Given the description of an element on the screen output the (x, y) to click on. 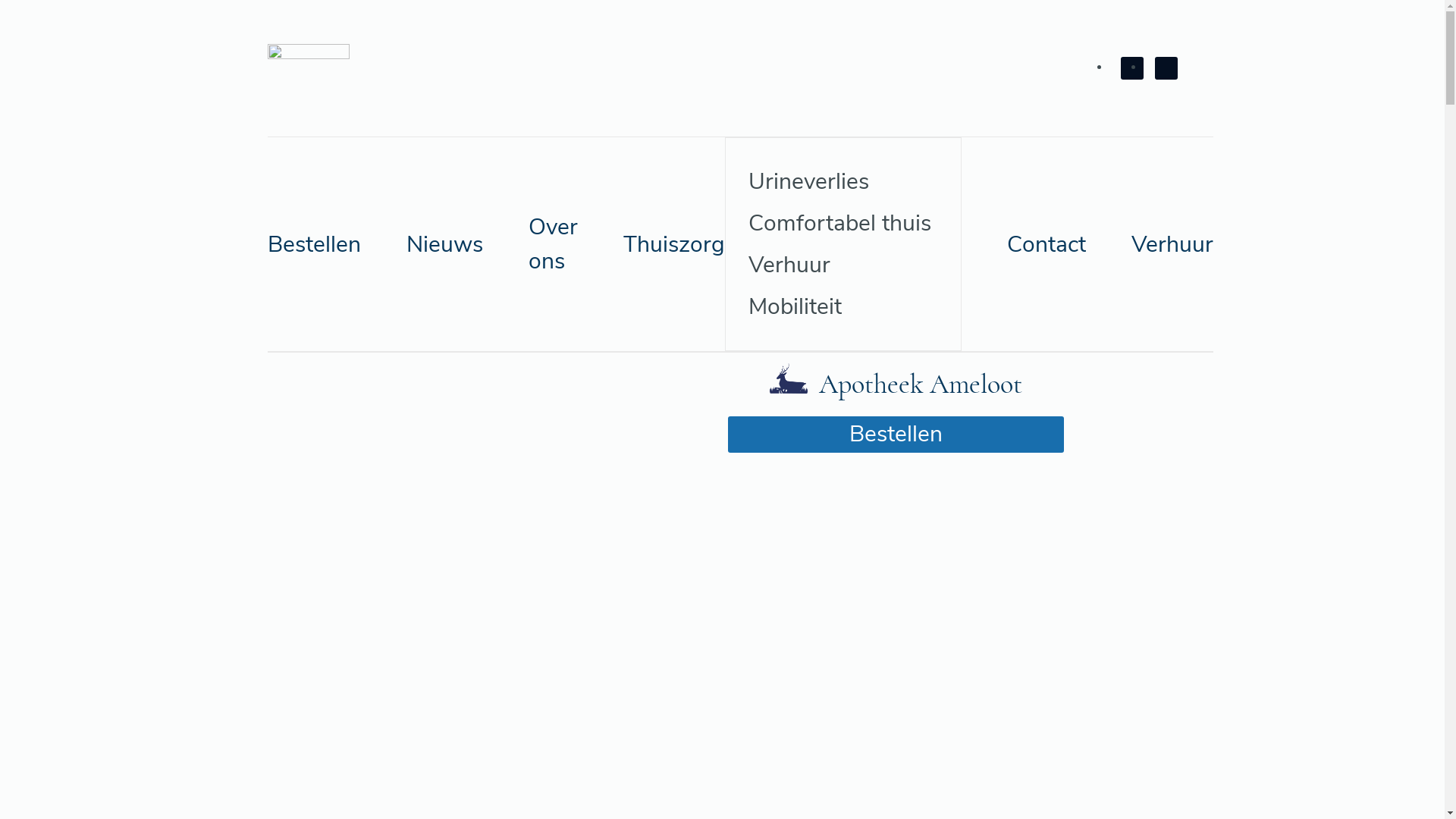
Nieuws Element type: text (444, 244)
Thuiszorg Element type: text (673, 244)
Bestellen Element type: text (895, 434)
Verhuur Element type: text (842, 264)
Bestellen Element type: text (313, 244)
Contact Element type: text (1046, 244)
Over ons Element type: text (552, 244)
Verhuur Element type: text (1172, 244)
Mobiliteit Element type: text (842, 306)
Comfortabel thuis Element type: text (842, 223)
Urineverlies Element type: text (842, 181)
